Given the description of an element on the screen output the (x, y) to click on. 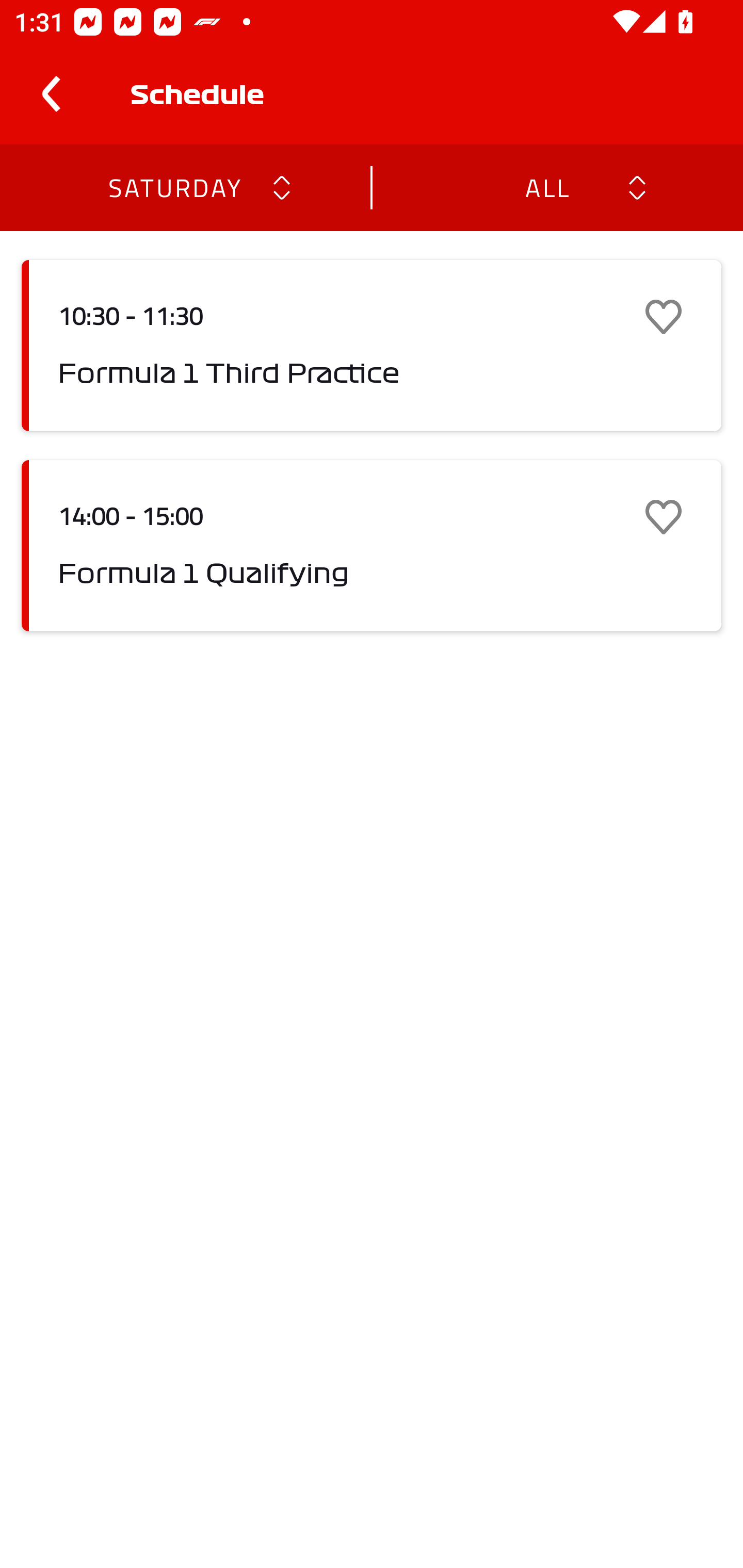
Navigate up (50, 93)
SATURDAY (174, 187)
ALL (546, 187)
10:30 - 11:30 Formula 1 Third Practice (371, 345)
14:00 - 15:00 Formula 1 Qualifying (371, 545)
